Given the description of an element on the screen output the (x, y) to click on. 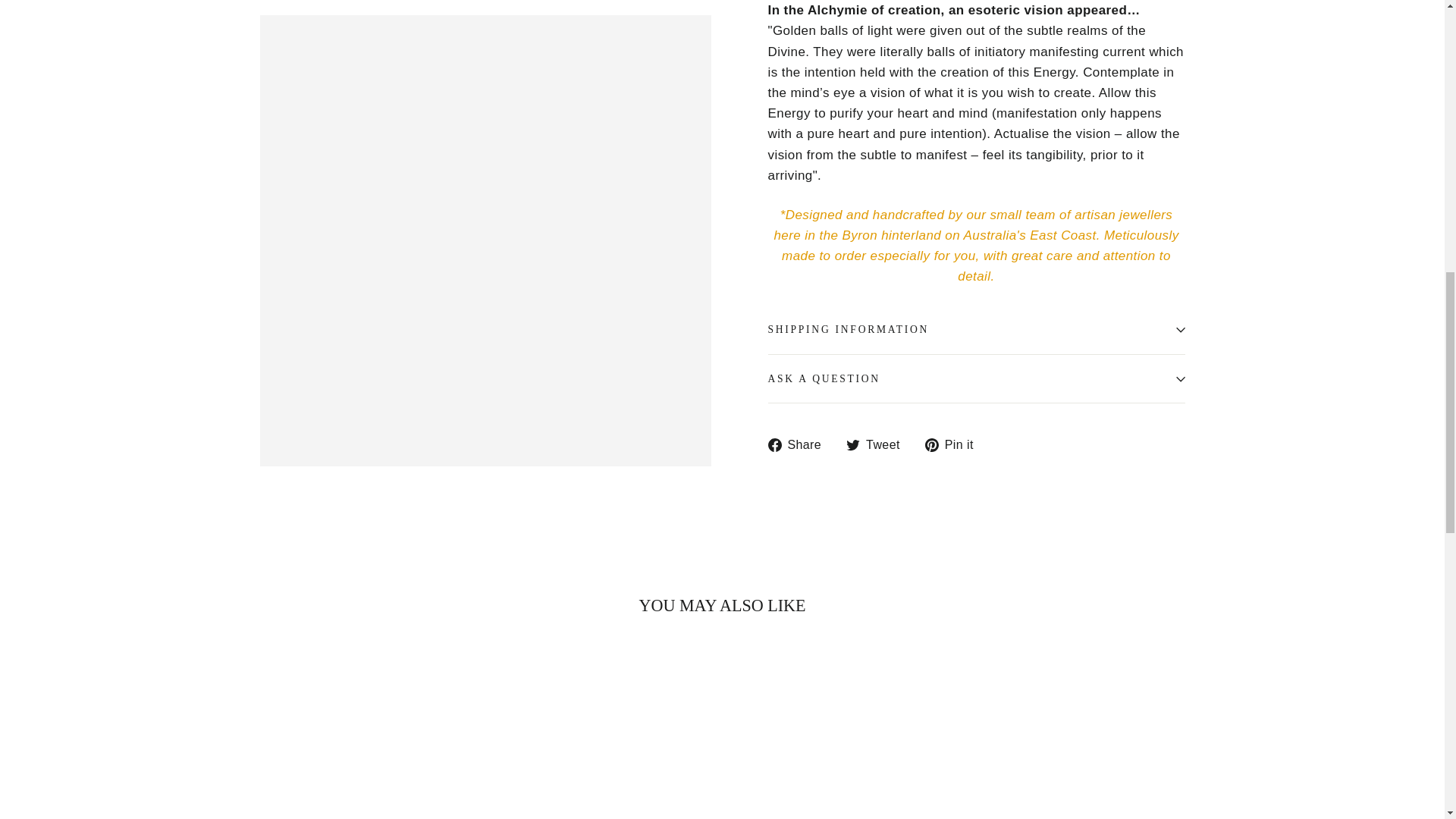
Share on Facebook (799, 444)
Tweet on Twitter (878, 444)
Pin on Pinterest (954, 444)
